Given the description of an element on the screen output the (x, y) to click on. 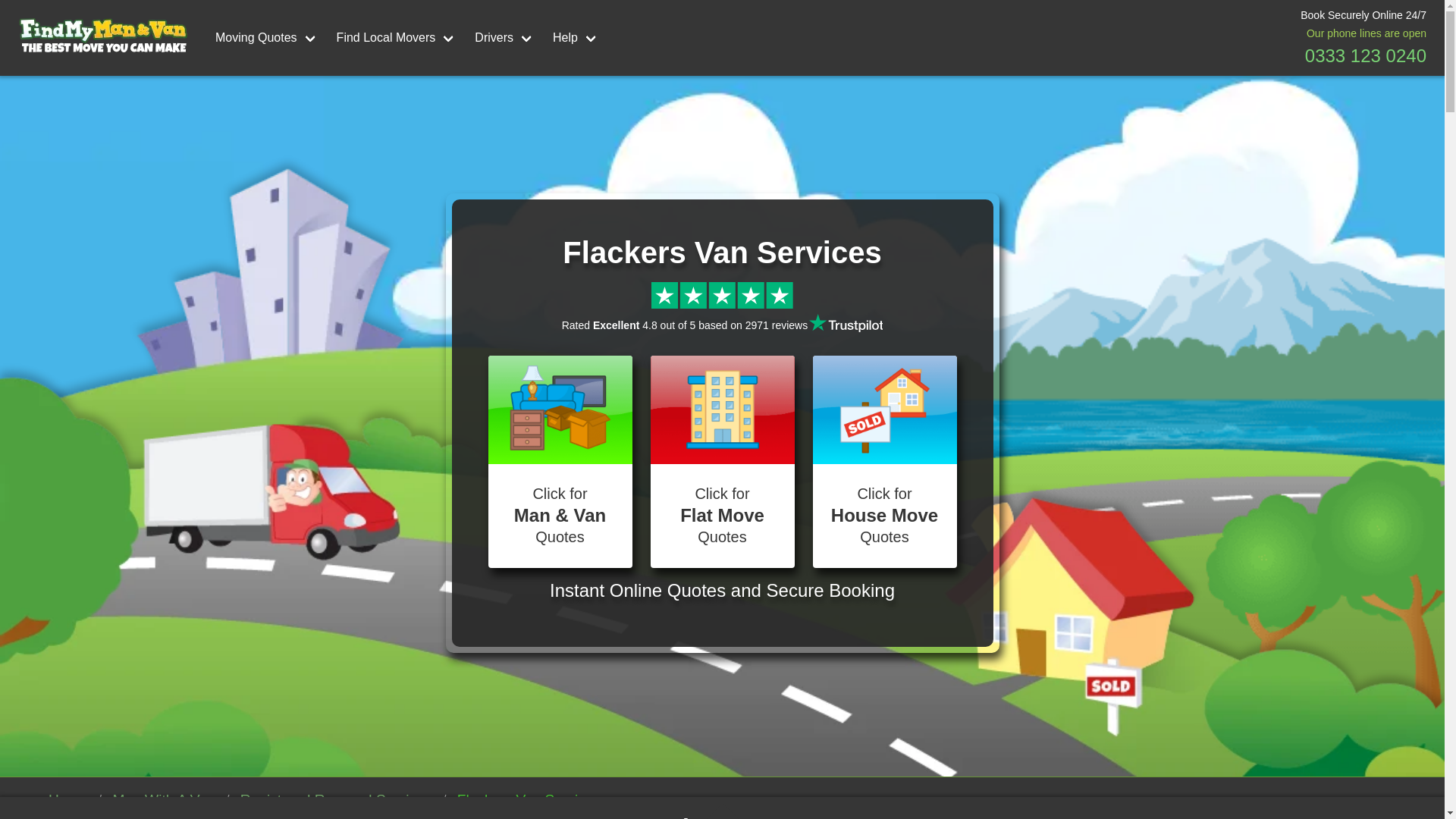
Drivers (504, 38)
0333 123 0240 (1365, 55)
Moving Quotes (266, 38)
Find Local Movers (396, 38)
